Given the description of an element on the screen output the (x, y) to click on. 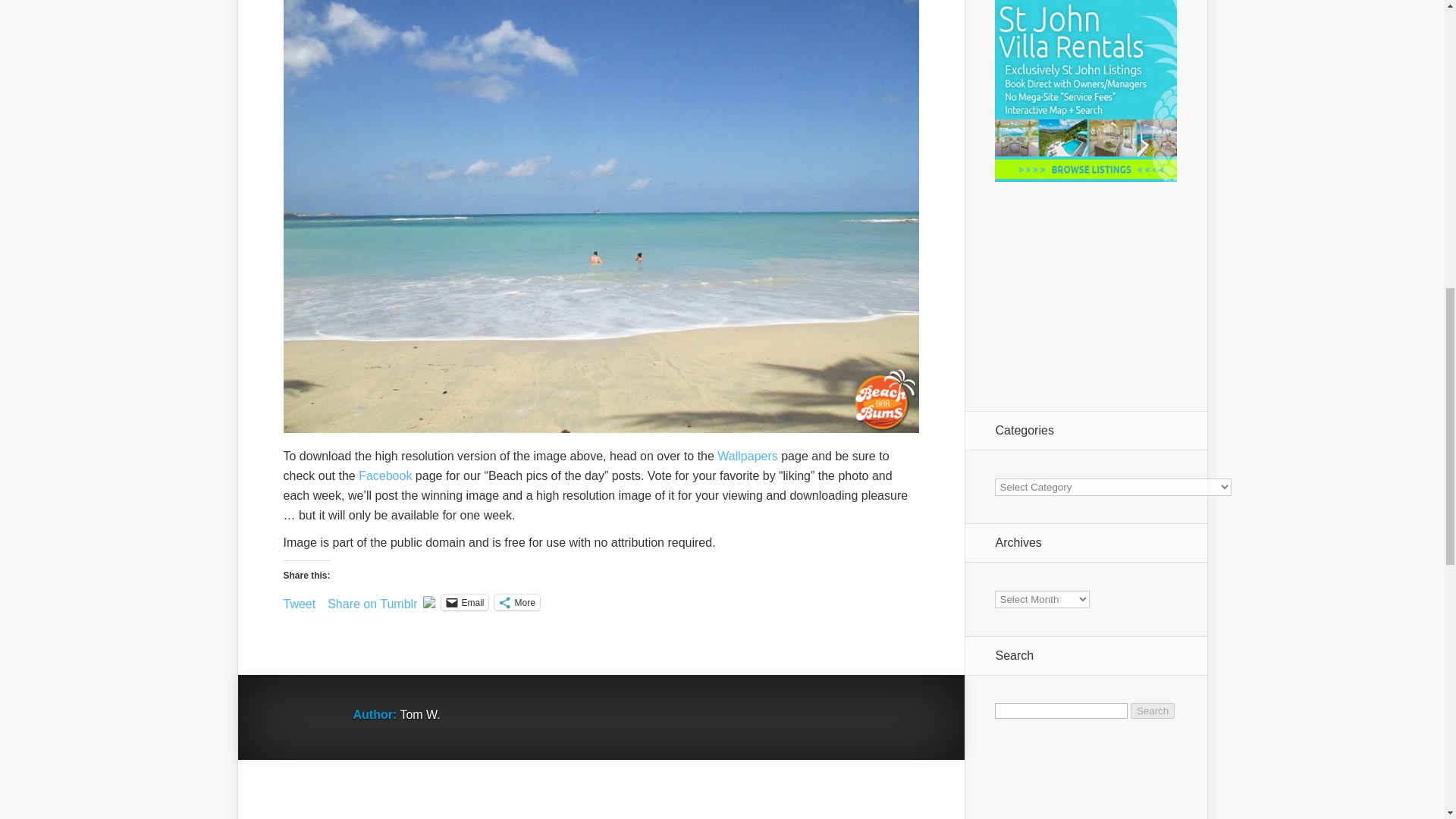
Wallpapers (747, 455)
Facebook (385, 475)
Click to email a link to a friend (464, 602)
Share on Tumblr (371, 601)
Tweet (299, 601)
Share on Tumblr (371, 601)
More (516, 602)
Search (1152, 710)
Email (464, 602)
